Given the description of an element on the screen output the (x, y) to click on. 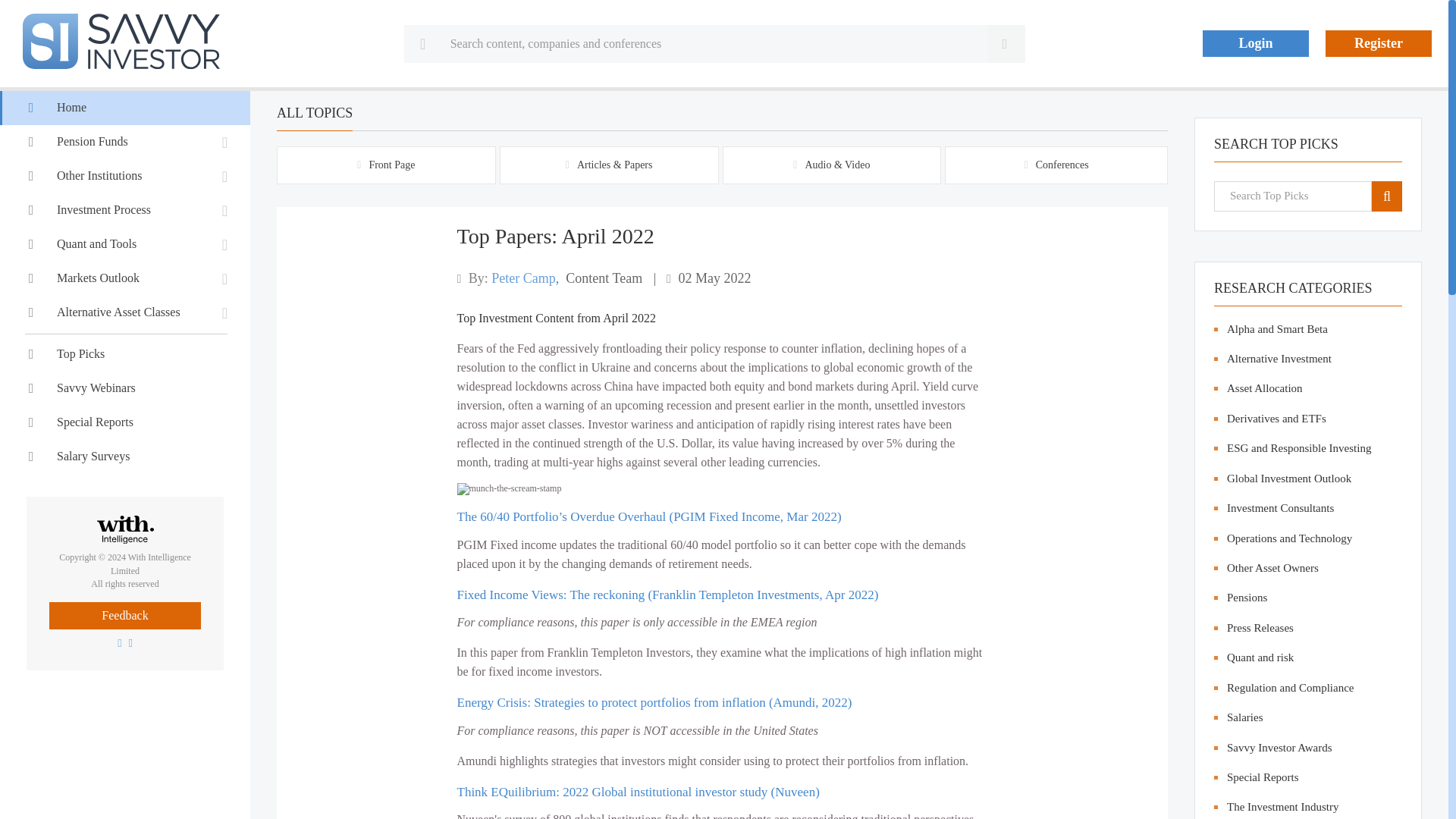
search (1386, 195)
Pension Funds (125, 141)
Home (125, 107)
Login (1255, 43)
Register (1377, 43)
